Given the description of an element on the screen output the (x, y) to click on. 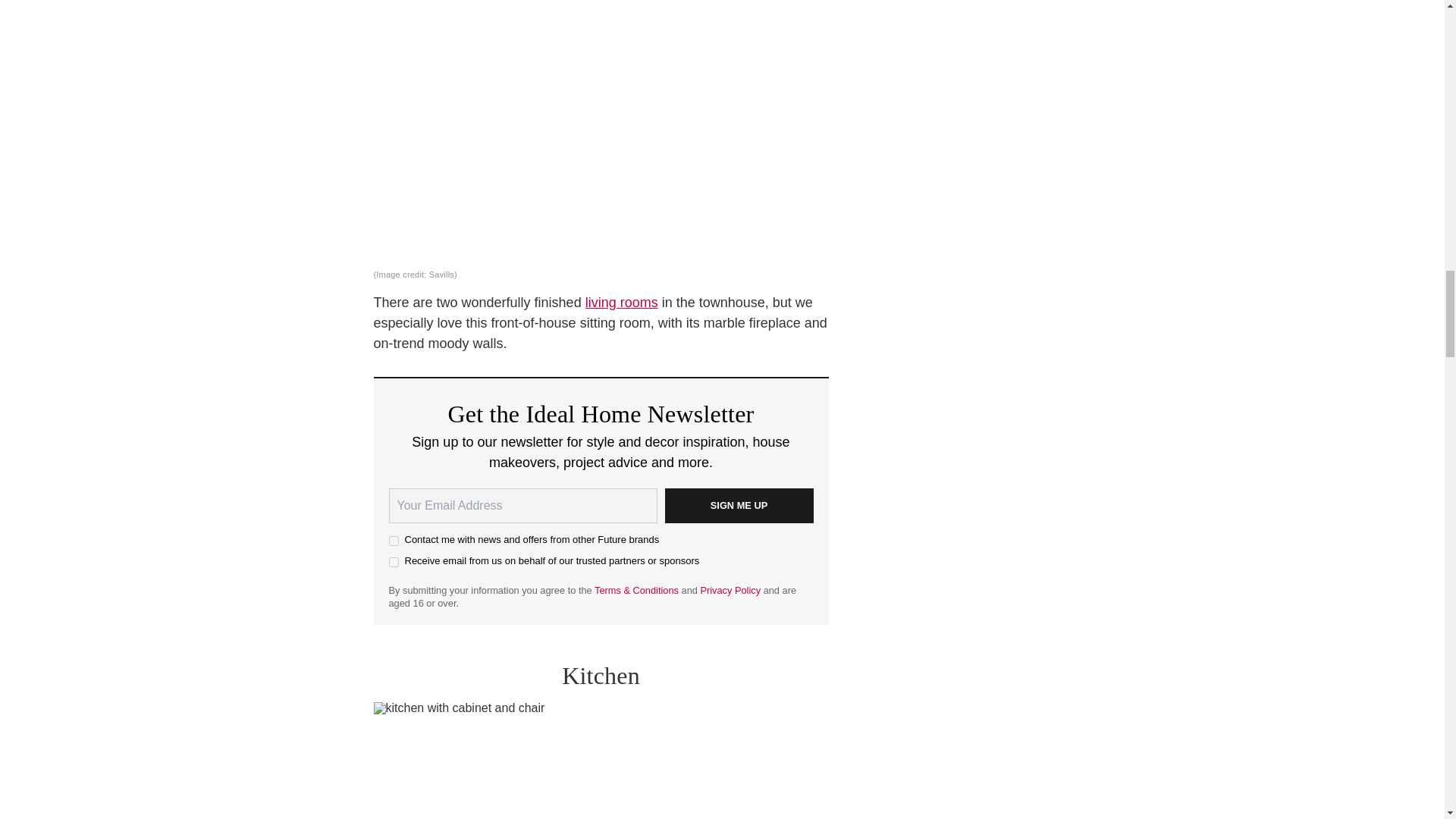
on (392, 562)
on (392, 541)
Sign me up (737, 505)
